Given the description of an element on the screen output the (x, y) to click on. 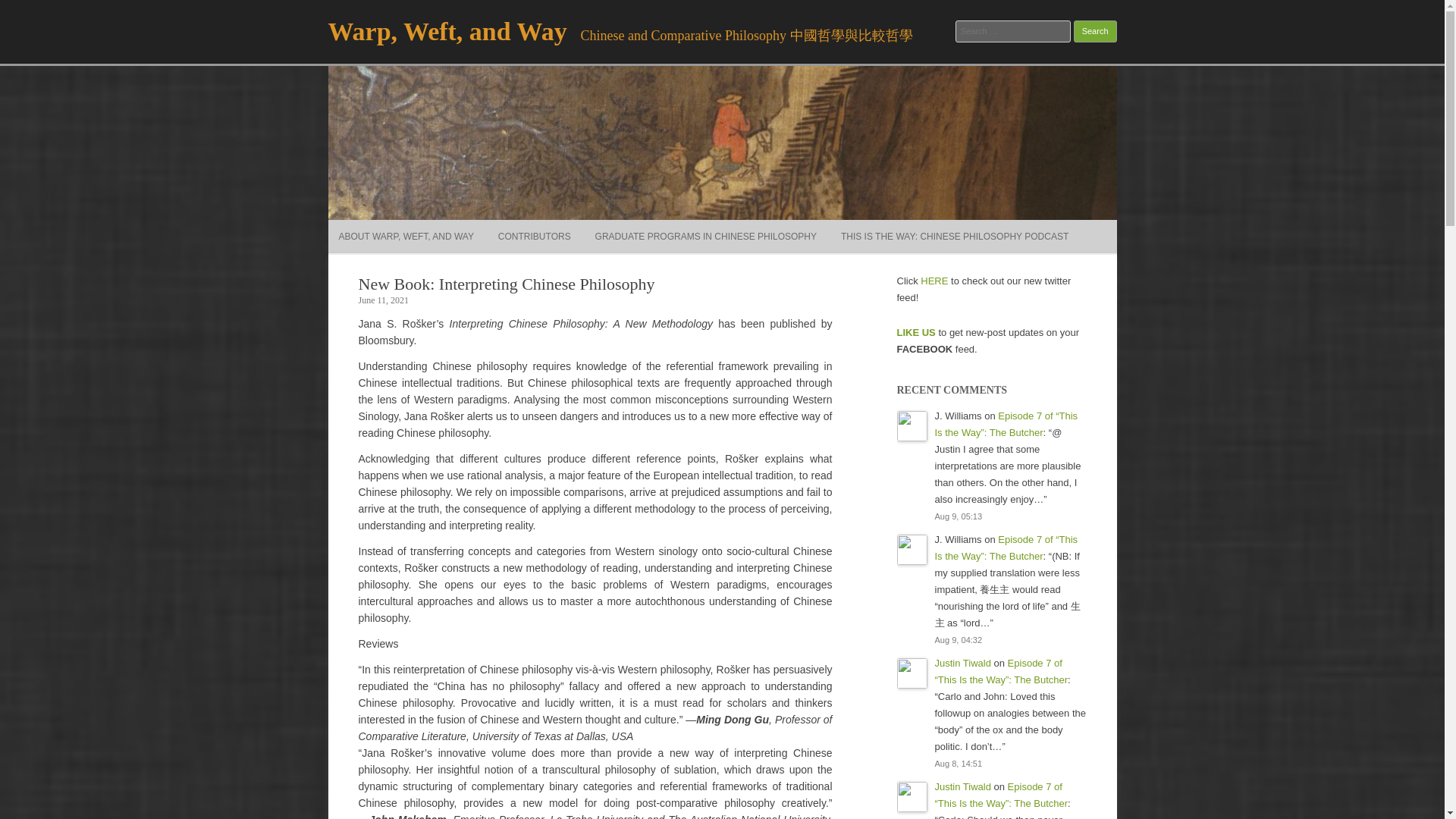
Search (1095, 31)
THIS IS THE WAY: CHINESE PHILOSOPHY PODCAST (954, 236)
ABOUT WARP, WEFT, AND WAY (405, 236)
Justin Tiwald (962, 663)
June 11, 2021 (383, 299)
Justin Tiwald (962, 786)
Warp, Weft, and Way (446, 31)
Skip to content (757, 225)
Search (1095, 31)
LIKE US (915, 332)
